Given the description of an element on the screen output the (x, y) to click on. 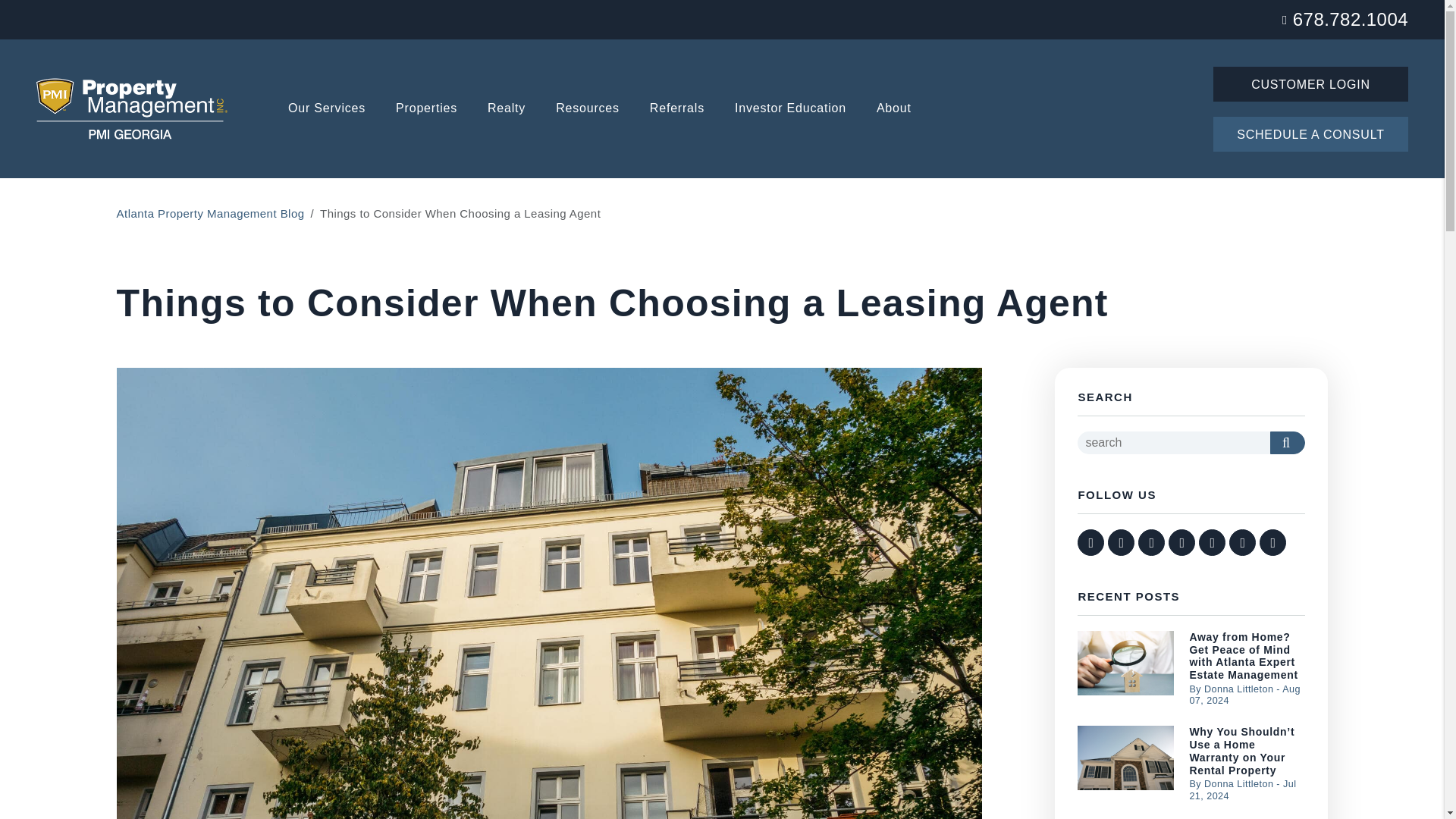
678.782.1004 (1349, 19)
CUSTOMER LOGIN (1309, 83)
Realty (506, 108)
SCHEDULE A CONSULT (1309, 134)
Properties (426, 108)
Resources (588, 108)
Our Services (326, 108)
